Given the description of an element on the screen output the (x, y) to click on. 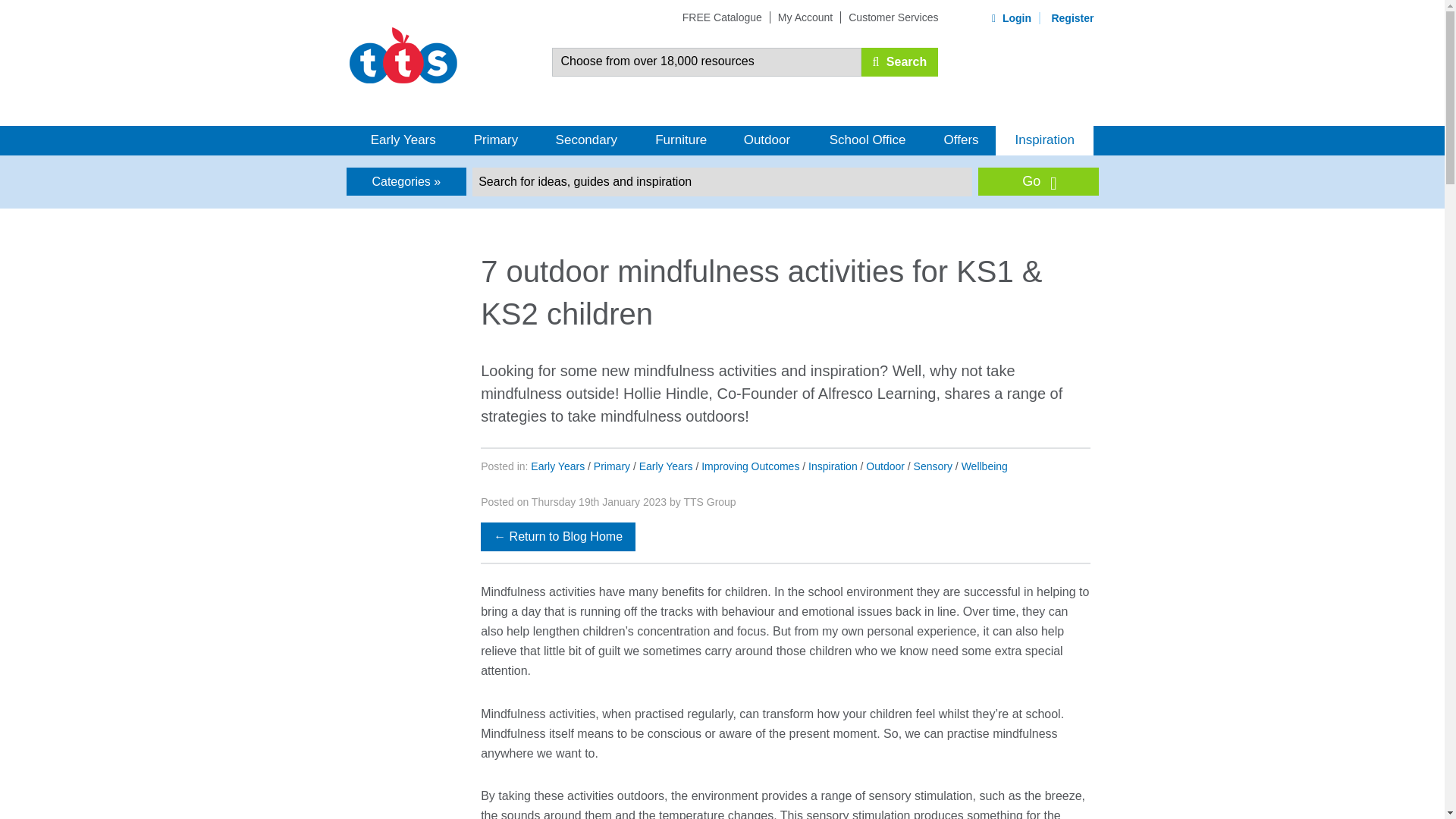
Login (1012, 18)
Login (1012, 18)
My Account (805, 17)
My Account (805, 17)
customer services (892, 17)
Register (1071, 18)
Primary (495, 140)
Register (1071, 18)
FREE Catalogue (722, 17)
Customer Services (892, 17)
